Given the description of an element on the screen output the (x, y) to click on. 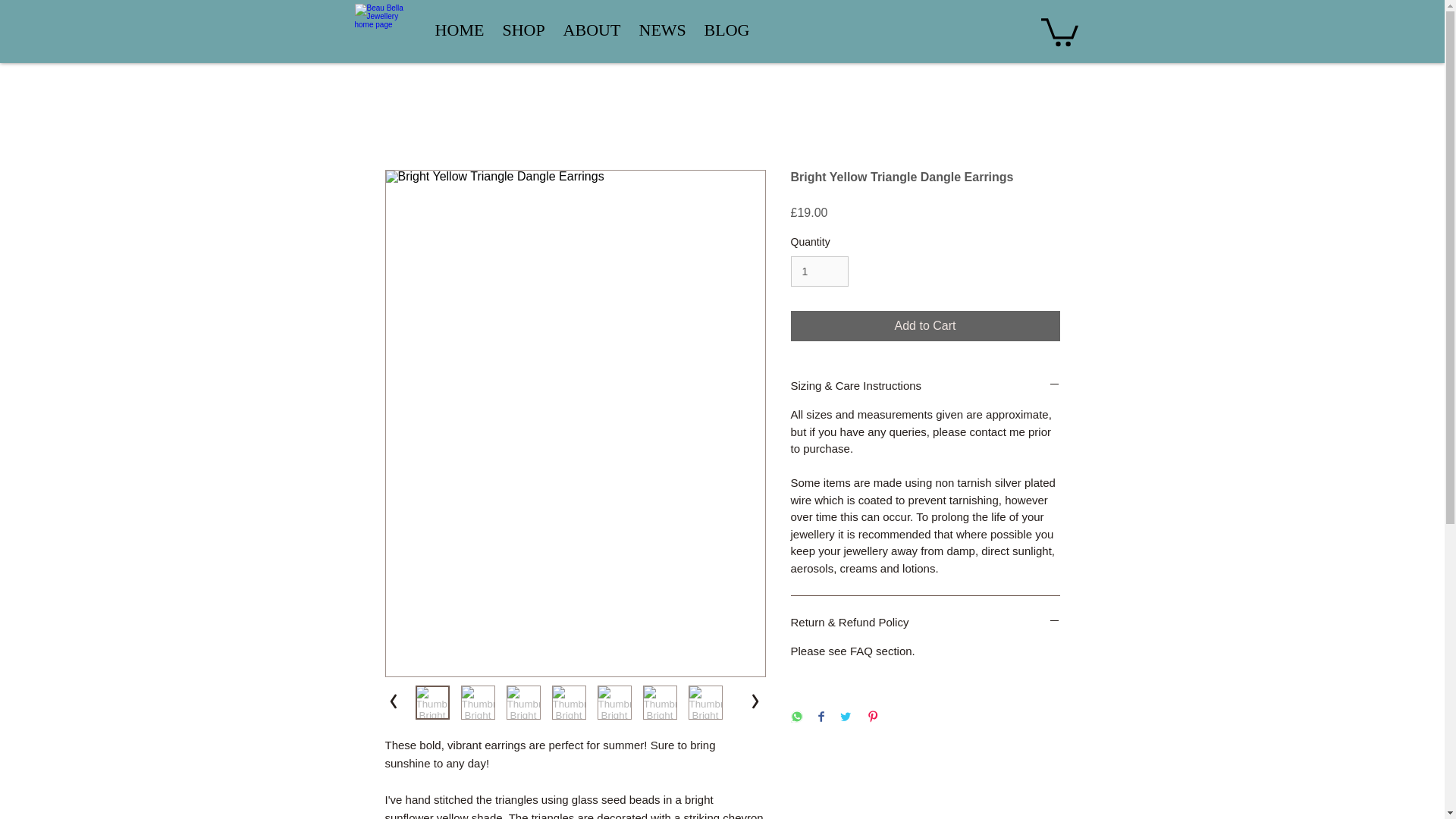
ABOUT (590, 30)
SHOP (523, 30)
Add to Cart (924, 326)
1 (818, 271)
HOME (459, 30)
BLOG (726, 30)
NEWS (661, 30)
